Given the description of an element on the screen output the (x, y) to click on. 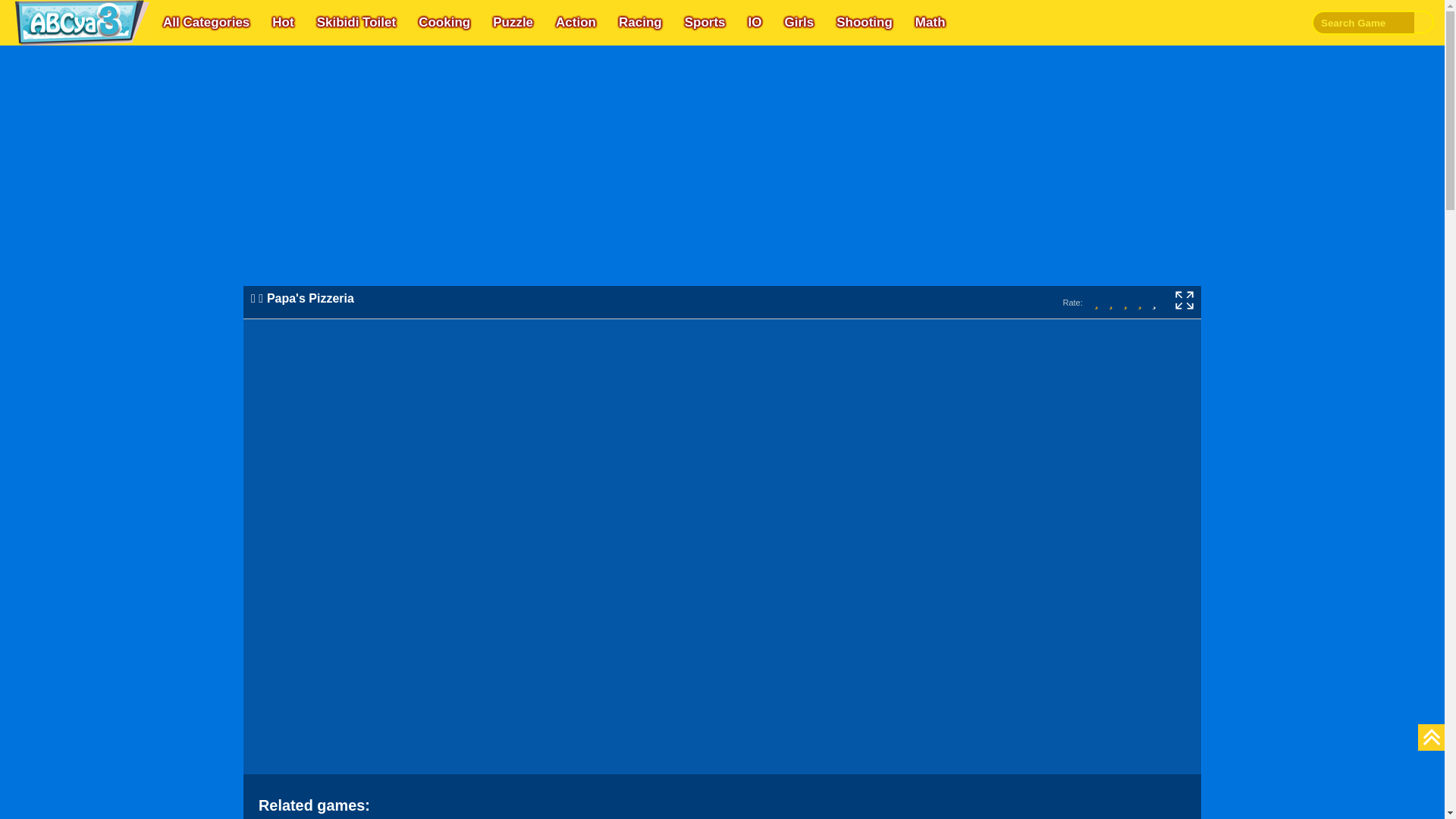
Action (576, 22)
Girls (798, 22)
Hot (282, 22)
Skibidi Toilet (356, 22)
Cooking (443, 22)
Shooting (863, 22)
Math (930, 22)
Racing (640, 22)
All Categories (206, 22)
All Cateogries (206, 22)
Math (930, 22)
Girls (798, 22)
IO (753, 22)
Puzzle (512, 22)
